Given the description of an element on the screen output the (x, y) to click on. 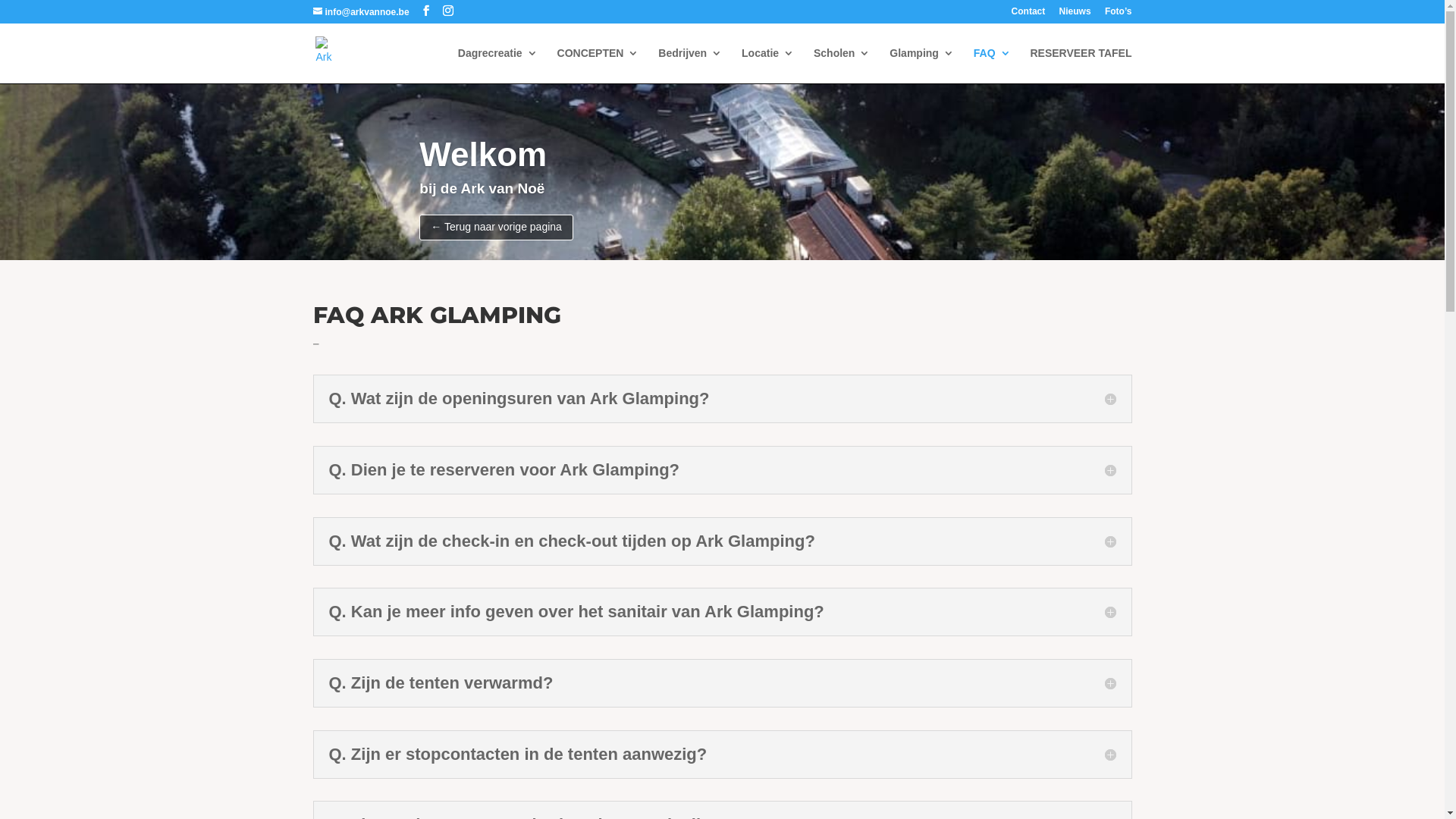
Contact Element type: text (1028, 14)
CONCEPTEN Element type: text (598, 65)
FAQ Element type: text (991, 65)
info@arkvannoe.be Element type: text (360, 11)
Locatie Element type: text (767, 65)
RESERVEER TAFEL Element type: text (1080, 65)
Bedrijven Element type: text (689, 65)
Glamping Element type: text (921, 65)
Nieuws Element type: text (1075, 14)
Dagrecreatie Element type: text (497, 65)
Scholen Element type: text (841, 65)
